Given the description of an element on the screen output the (x, y) to click on. 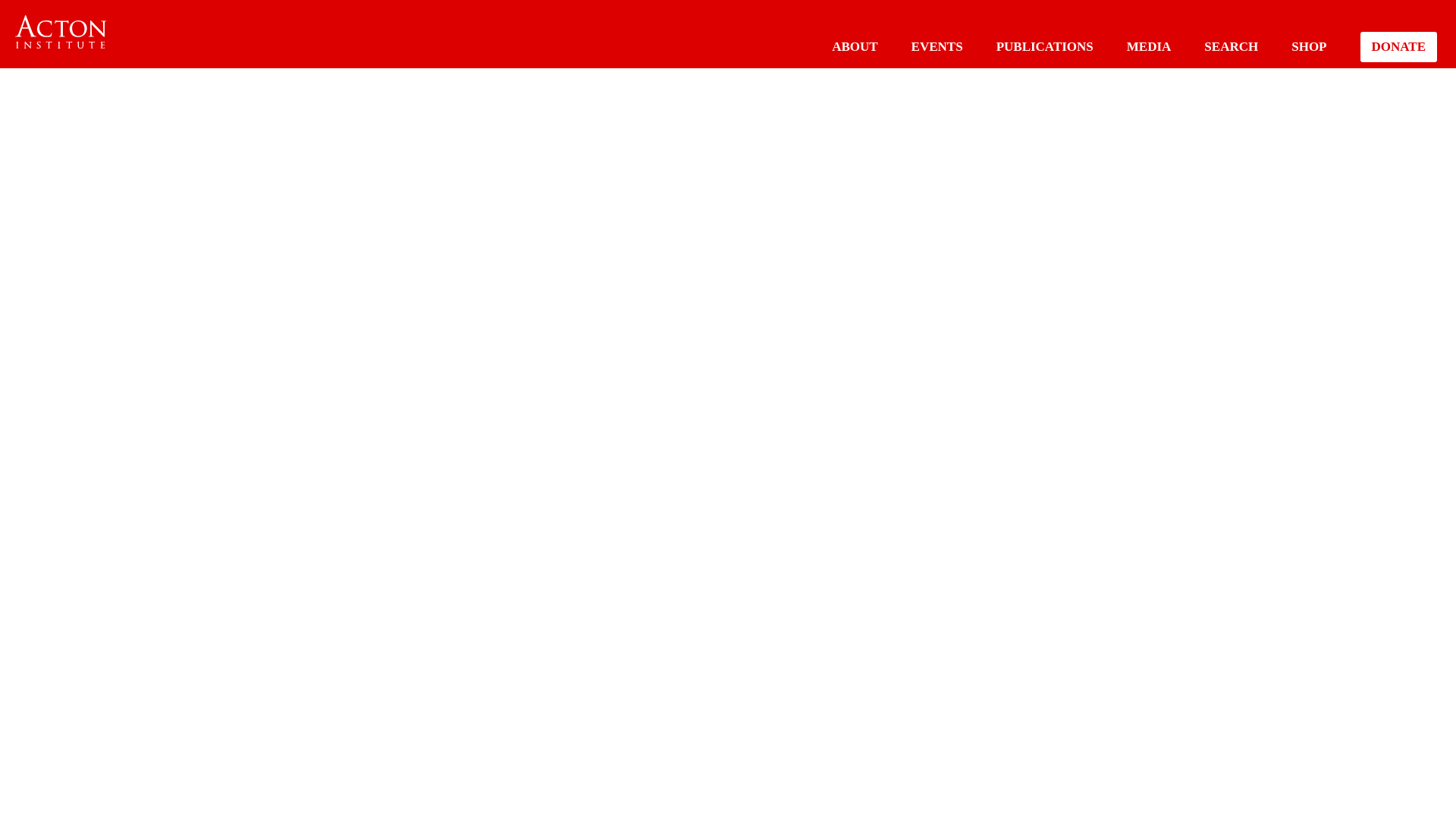
ABOUT (854, 46)
DONATE (1398, 46)
PUBLICATIONS (1044, 46)
SHOP (1308, 46)
EVENTS (936, 46)
MEDIA (1149, 46)
The Acton Institute (60, 31)
SEARCH (1230, 46)
